Given the description of an element on the screen output the (x, y) to click on. 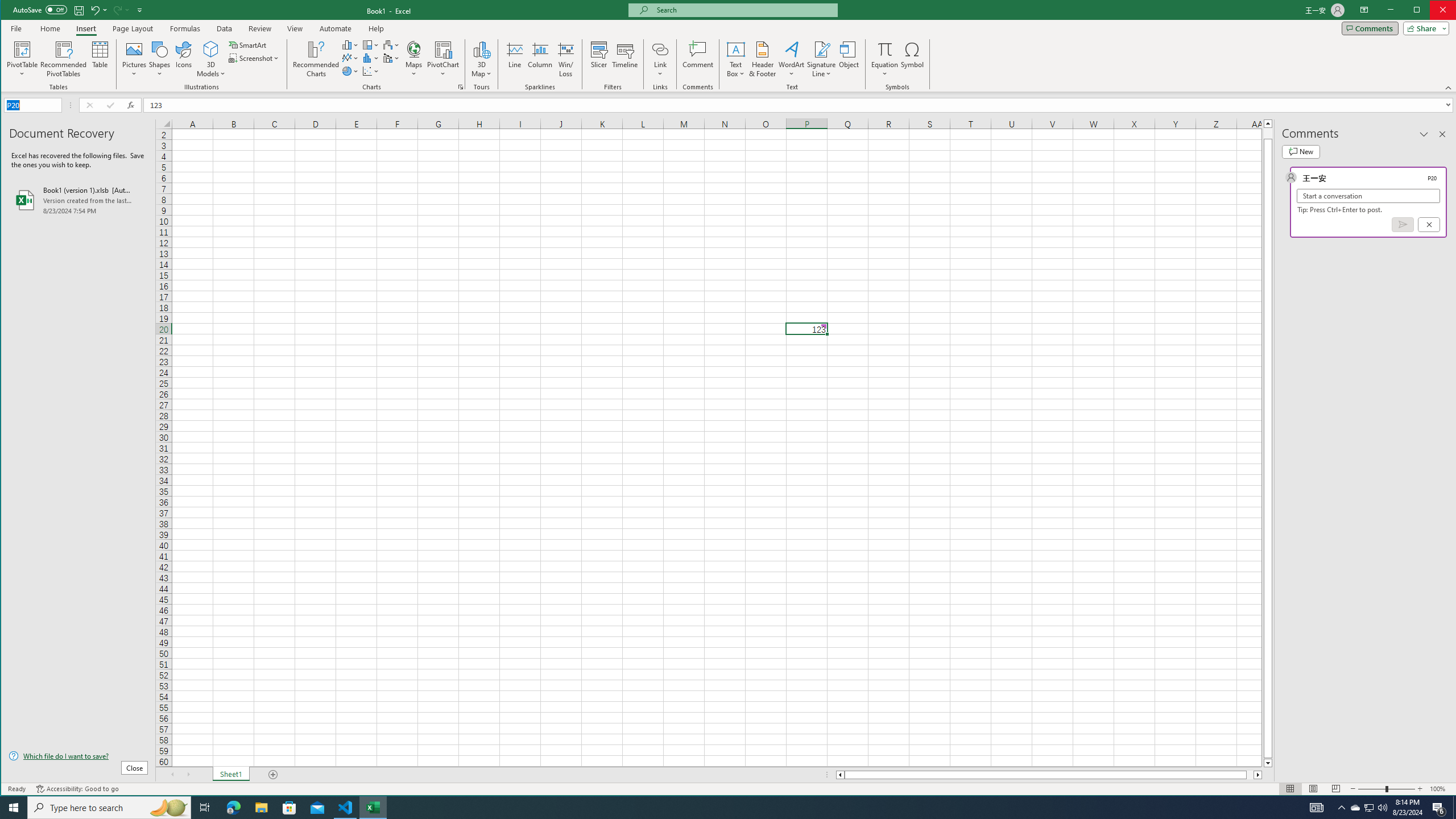
Table (100, 59)
Recommended Charts (460, 86)
Slicer... (598, 59)
Column (540, 59)
3D Map (481, 59)
Visual Studio Code - 1 running window (345, 807)
Start a conversation (1368, 195)
New comment (1300, 151)
Maximize (1432, 11)
Post comment (Ctrl + Enter) (1402, 224)
Equation (884, 48)
Insert Pie or Doughnut Chart (350, 70)
